Given the description of an element on the screen output the (x, y) to click on. 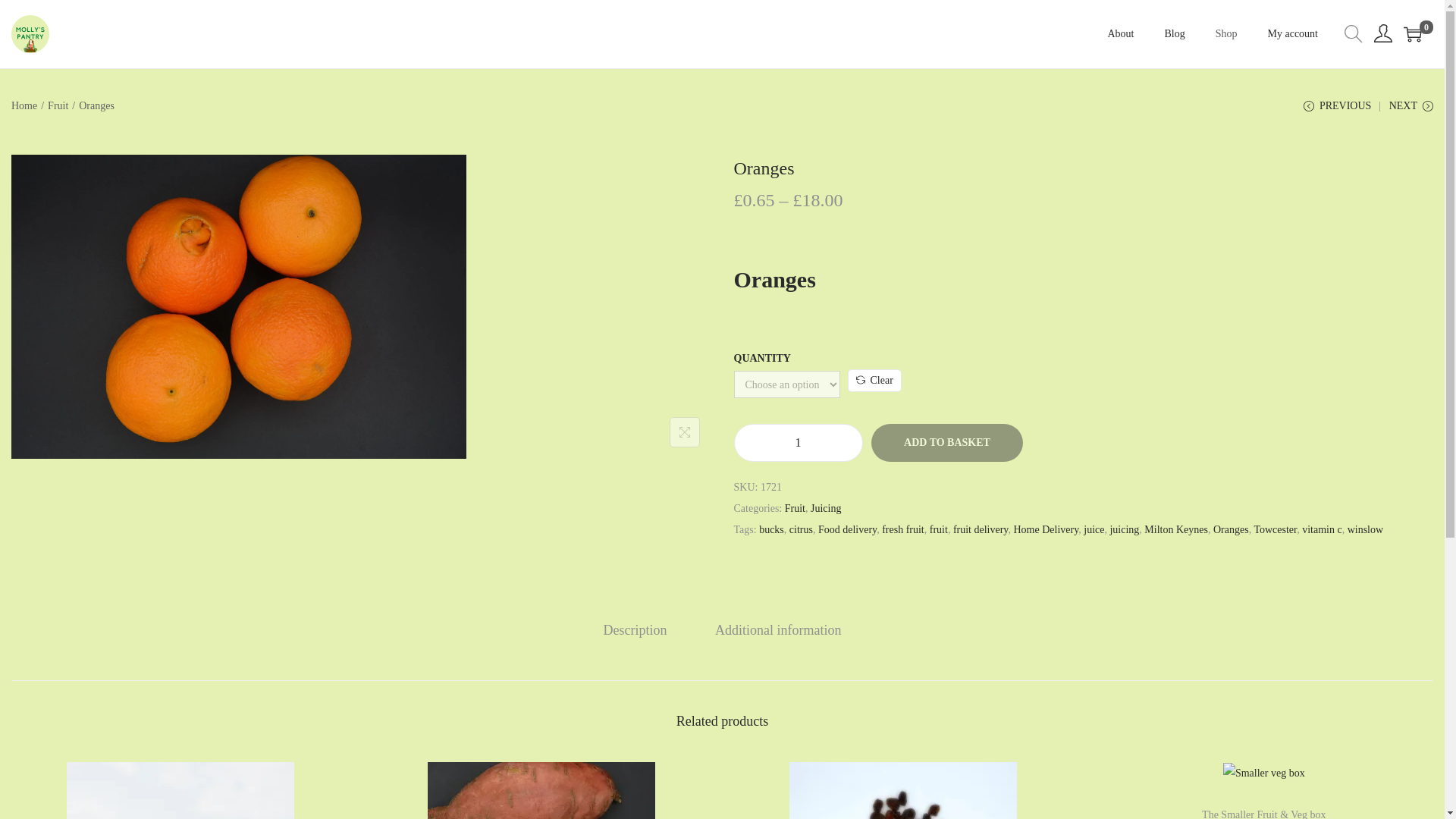
Clear (874, 380)
PREVIOUS (1337, 111)
Food delivery (847, 529)
NEXT (1410, 111)
fresh fruit (903, 529)
ADD TO BASKET (946, 442)
1 (797, 442)
Juicing (825, 508)
citrus (800, 529)
